Given the description of an element on the screen output the (x, y) to click on. 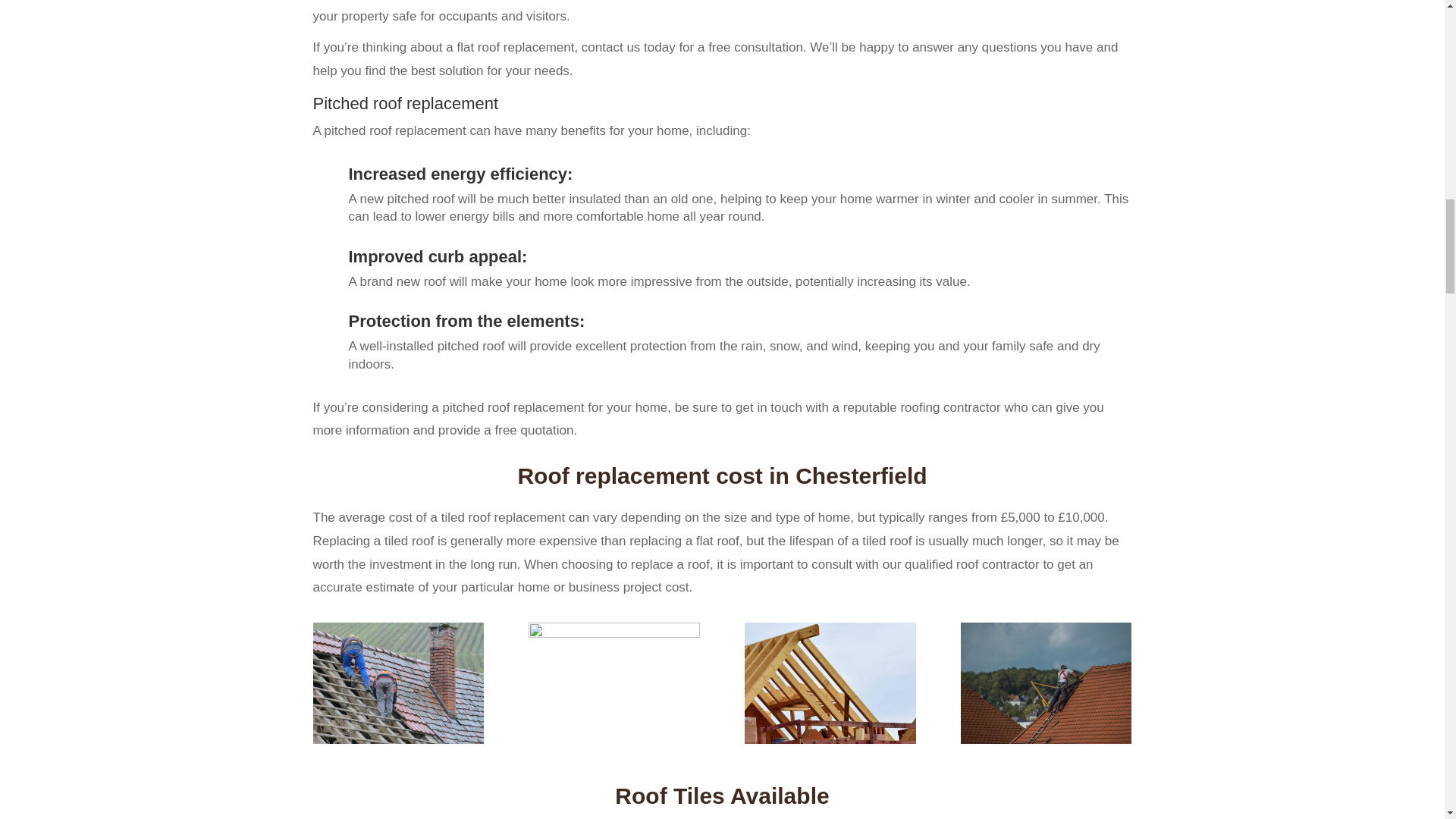
new-roof-cost (829, 739)
man-fixing-roof (613, 633)
